Given the description of an element on the screen output the (x, y) to click on. 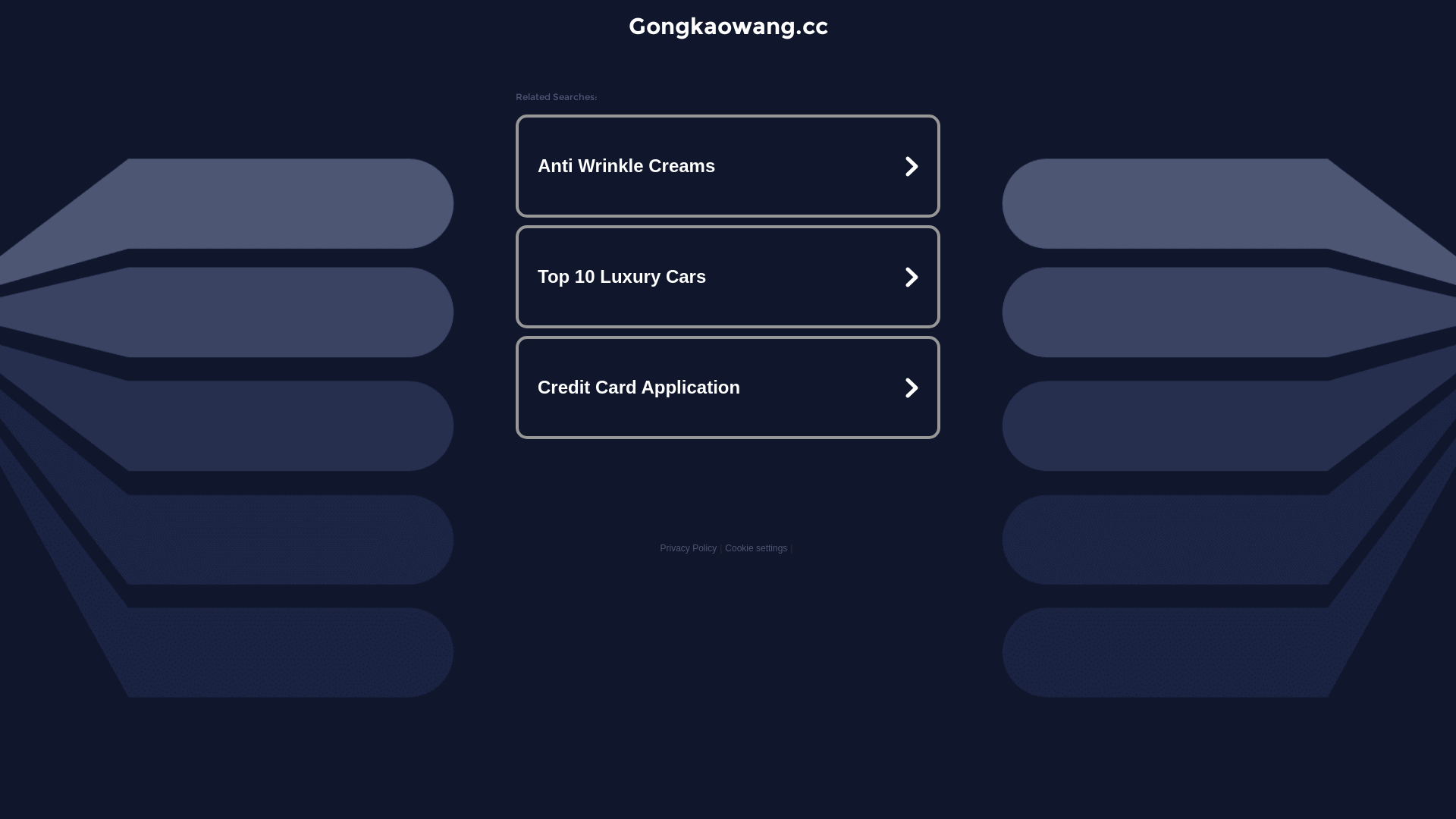
Privacy Policy Element type: text (687, 547)
Anti Wrinkle Creams Element type: text (727, 165)
Cookie settings Element type: text (755, 547)
Gongkaowang.cc Element type: text (727, 26)
Credit Card Application Element type: text (727, 387)
Top 10 Luxury Cars Element type: text (727, 276)
